Given the description of an element on the screen output the (x, y) to click on. 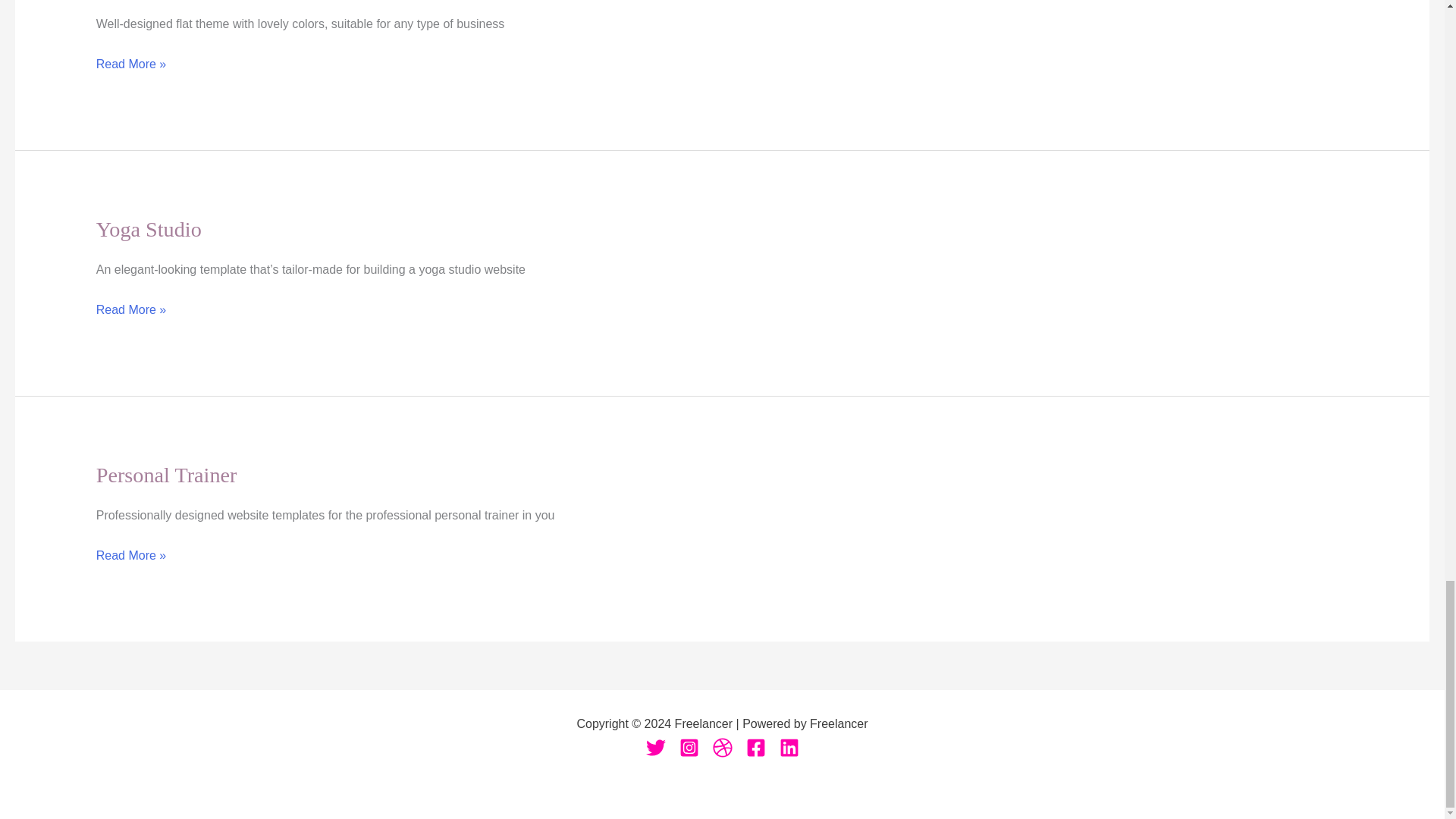
Yoga Studio (149, 228)
